Given the description of an element on the screen output the (x, y) to click on. 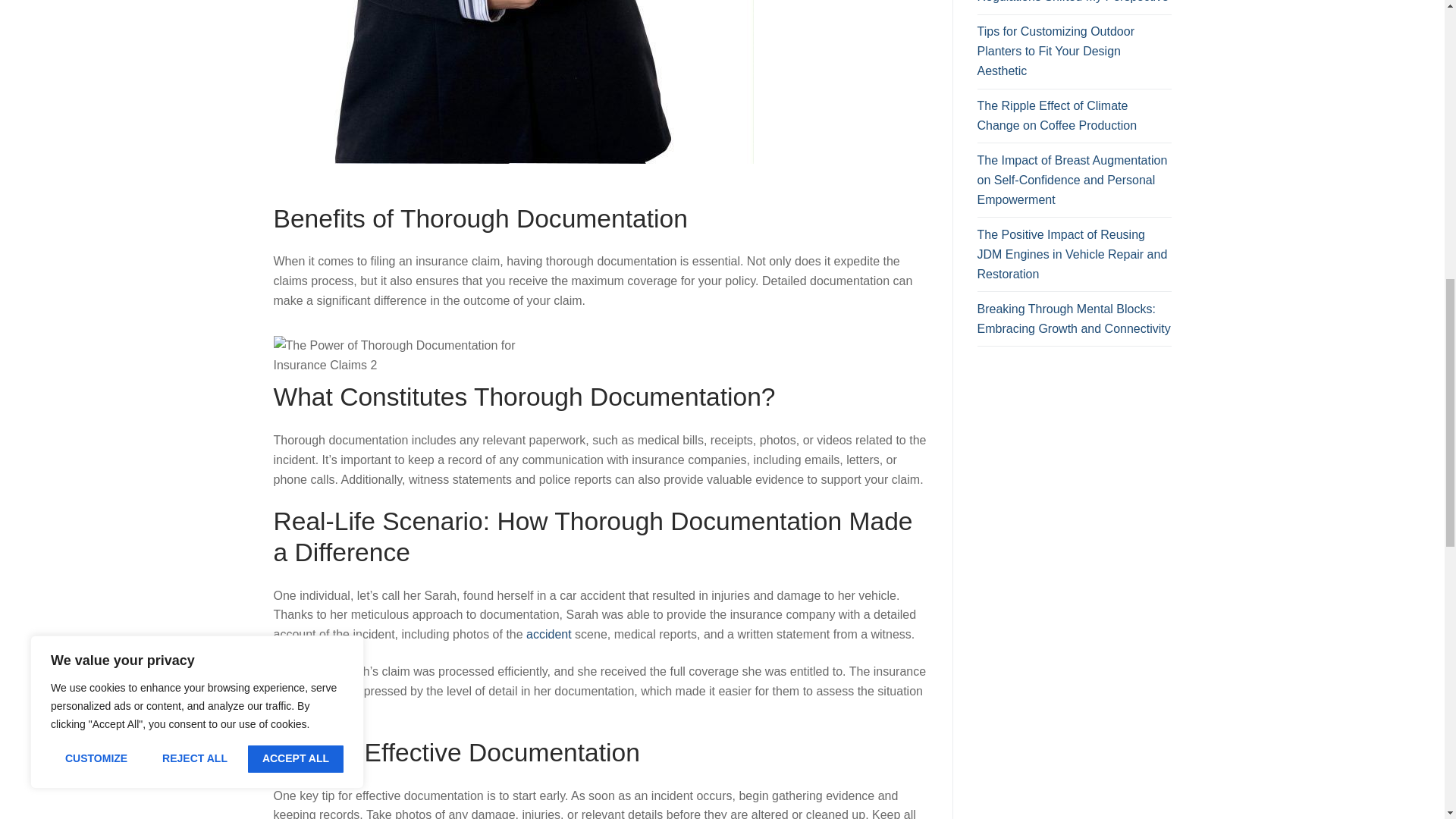
accident (548, 634)
